Given the description of an element on the screen output the (x, y) to click on. 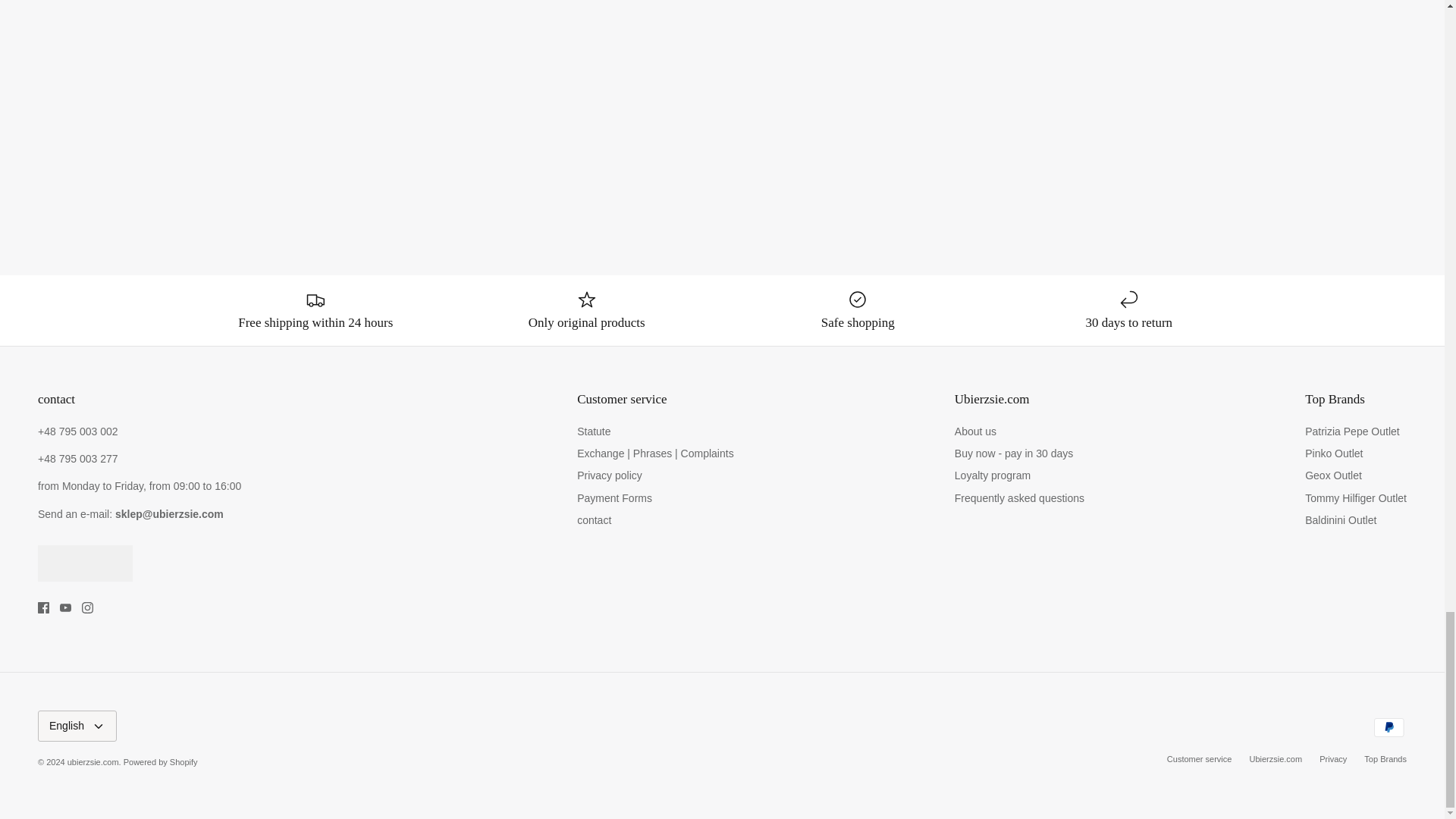
Facebook (43, 607)
Youtube (65, 607)
